Given the description of an element on the screen output the (x, y) to click on. 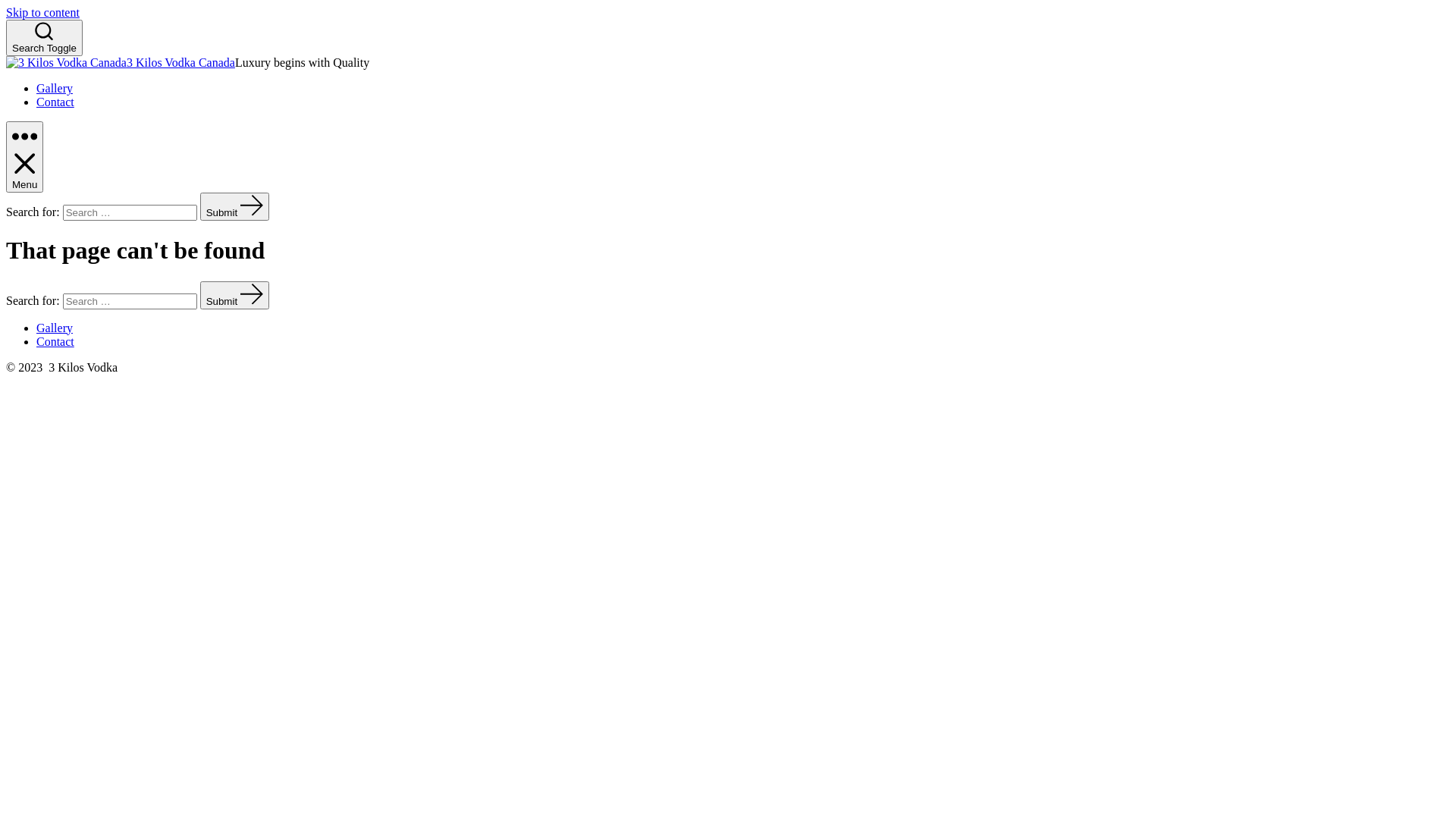
Gallery Element type: text (54, 87)
Contact Element type: text (55, 101)
Skip to content Element type: text (42, 12)
Submit Element type: text (234, 206)
3 Kilos Vodka Canada Element type: text (180, 62)
Search Toggle Element type: text (44, 37)
Gallery Element type: text (54, 327)
Submit Element type: text (234, 295)
Contact Element type: text (55, 341)
Menu Element type: text (24, 156)
